Given the description of an element on the screen output the (x, y) to click on. 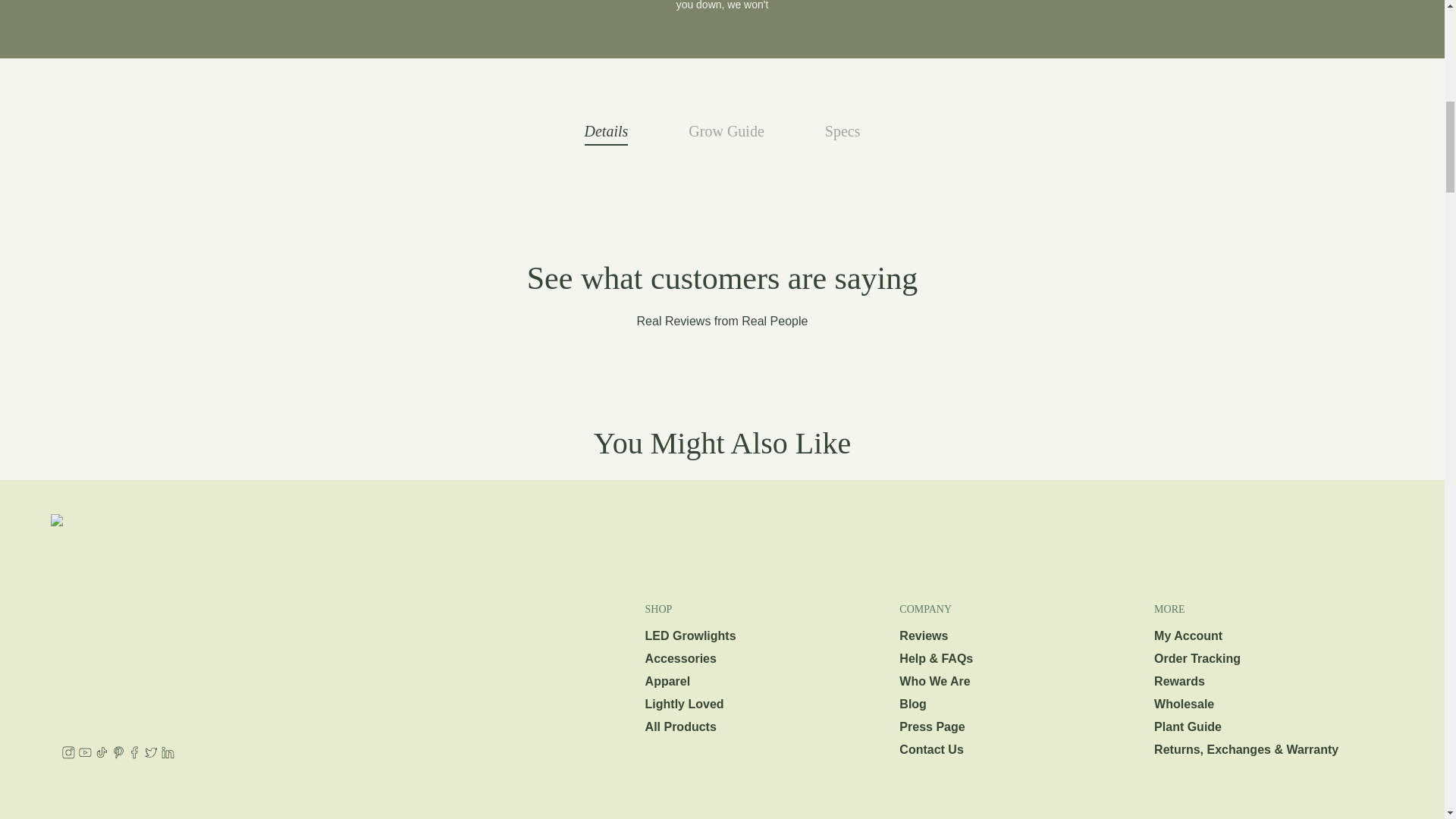
Soltech on YouTube (84, 755)
Soltech on Instagram (68, 755)
